Given the description of an element on the screen output the (x, y) to click on. 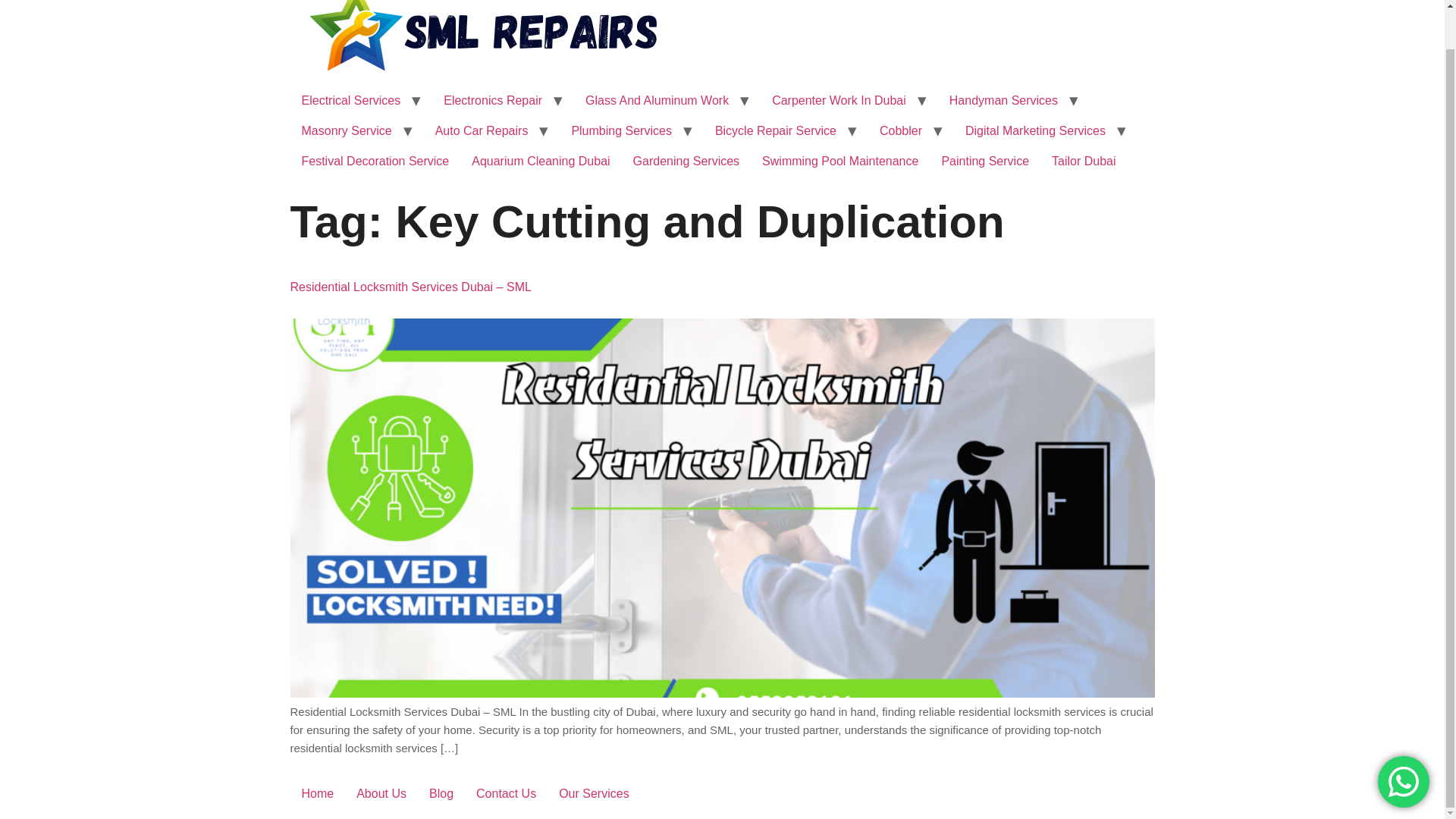
Electrical Services (350, 100)
WhatsApp us (1403, 740)
Glass And Aluminum Work (656, 100)
Electronics Repair (492, 100)
